Given the description of an element on the screen output the (x, y) to click on. 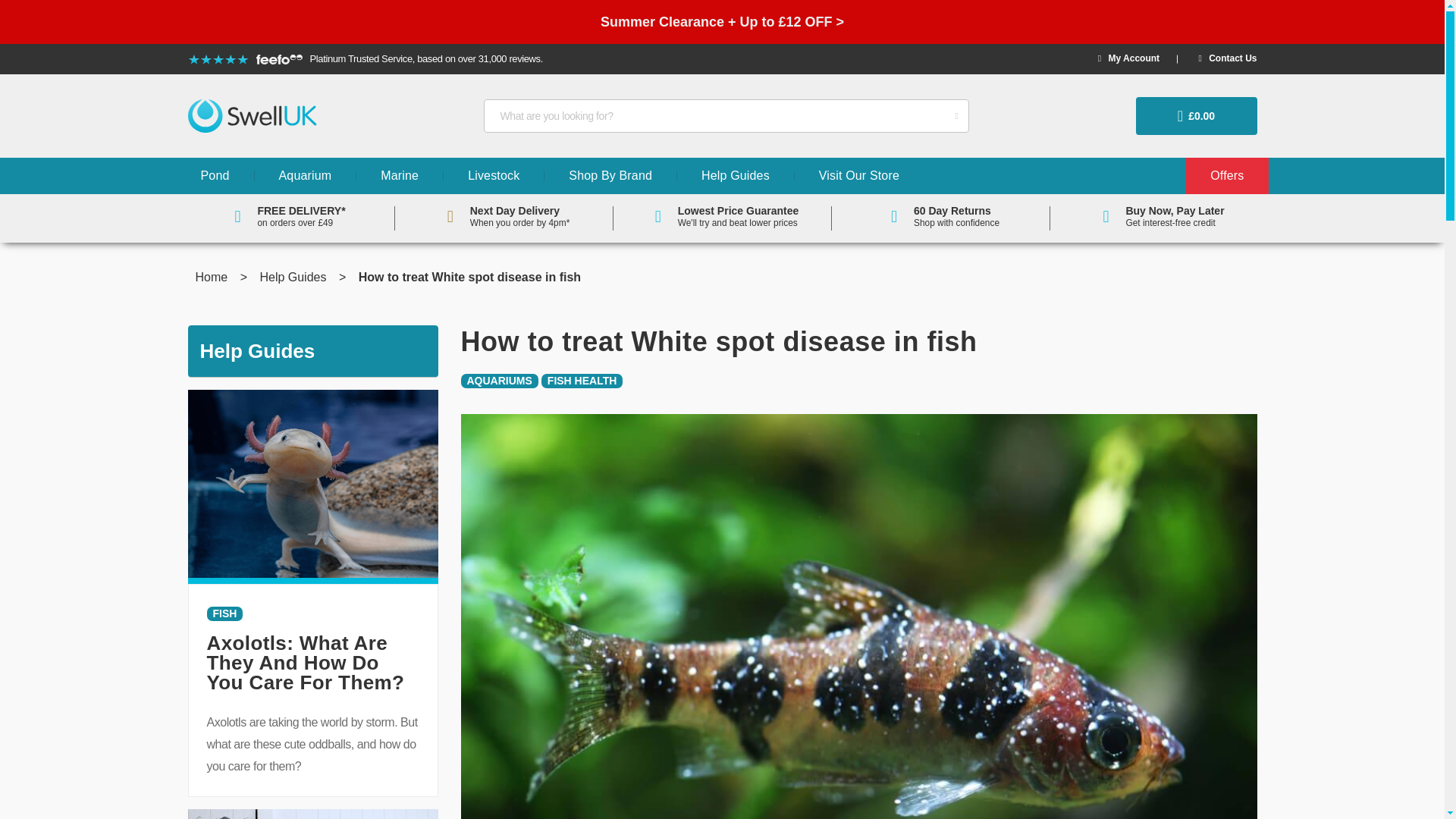
Axolotls: What Are They And How Do You Care For Them? (312, 481)
Axolotls: What Are They And How Do You Care For Them? (305, 662)
Go to Home Page (213, 277)
Contact Us (1227, 58)
How to treat White spot disease in fish (859, 710)
Pond (214, 176)
My Account (1127, 58)
Help Guides (294, 277)
